Given the description of an element on the screen output the (x, y) to click on. 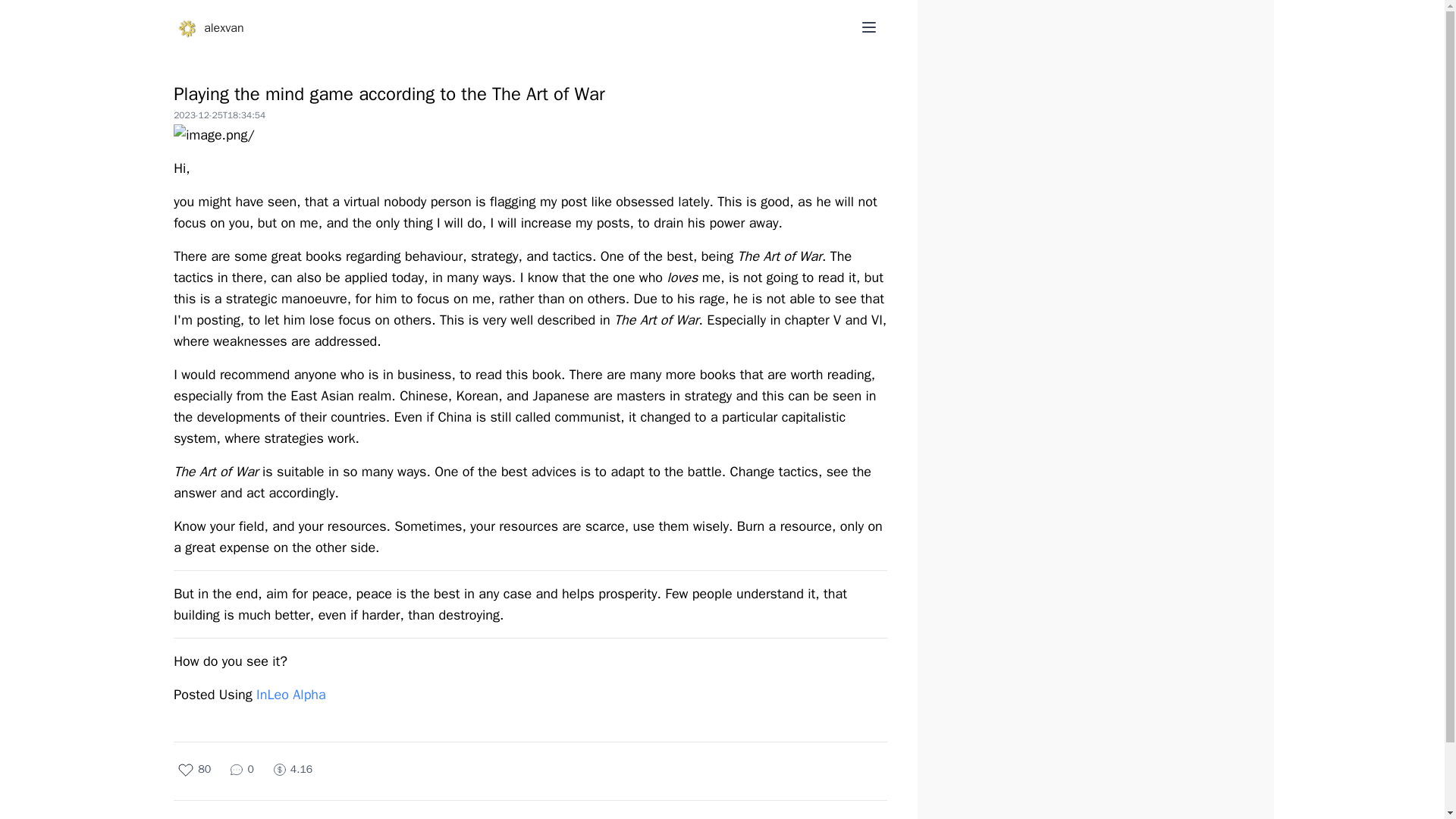
InLeo Alpha (291, 694)
alexvan (223, 28)
